Given the description of an element on the screen output the (x, y) to click on. 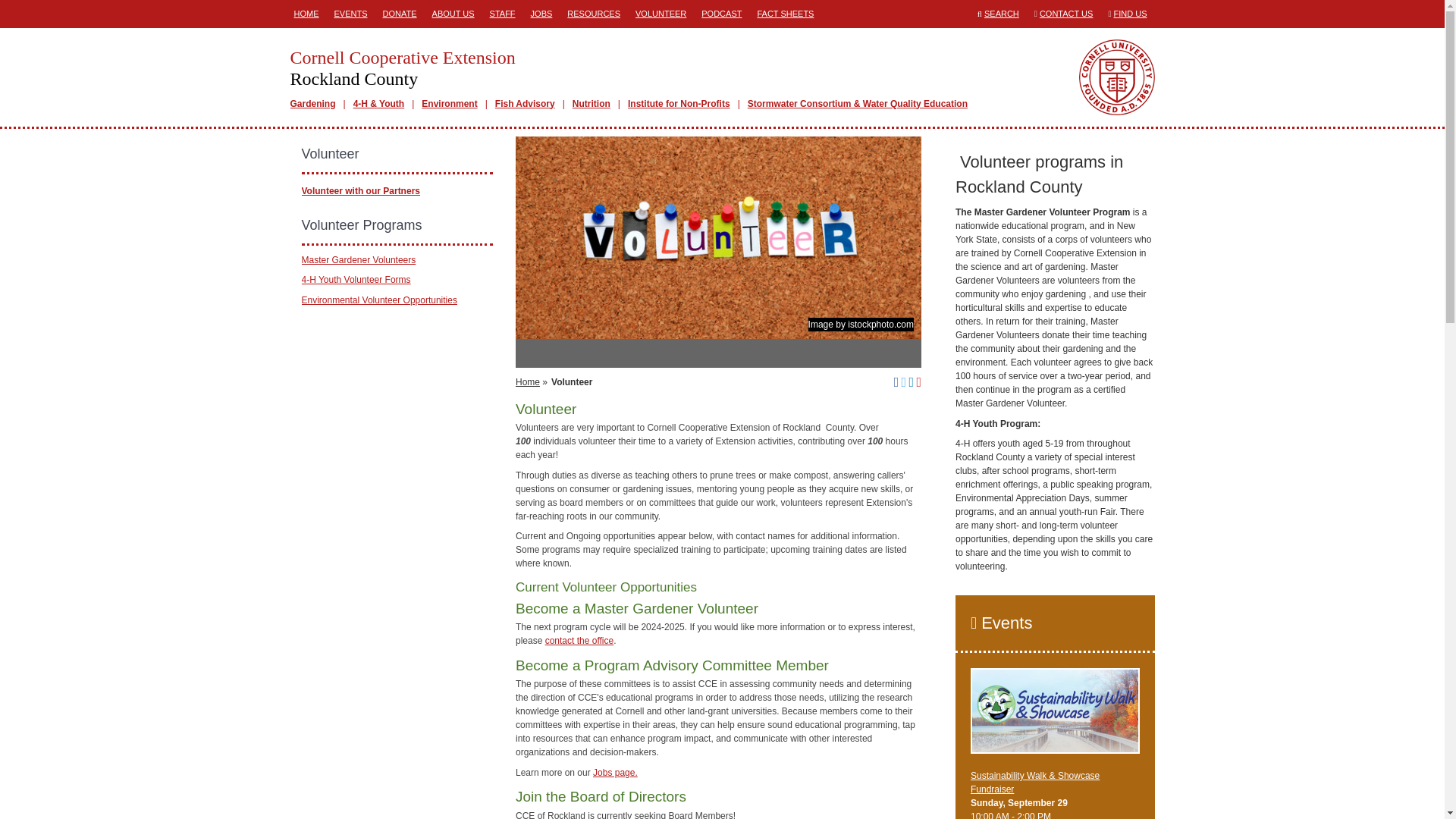
DONATE (399, 13)
Gardening (311, 103)
HOME (305, 13)
Home (527, 381)
SEARCH (1001, 13)
PODCAST (721, 13)
contact the office (579, 640)
CONTACT US (1066, 13)
FACT SHEETS (784, 13)
Environment (449, 103)
